Given the description of an element on the screen output the (x, y) to click on. 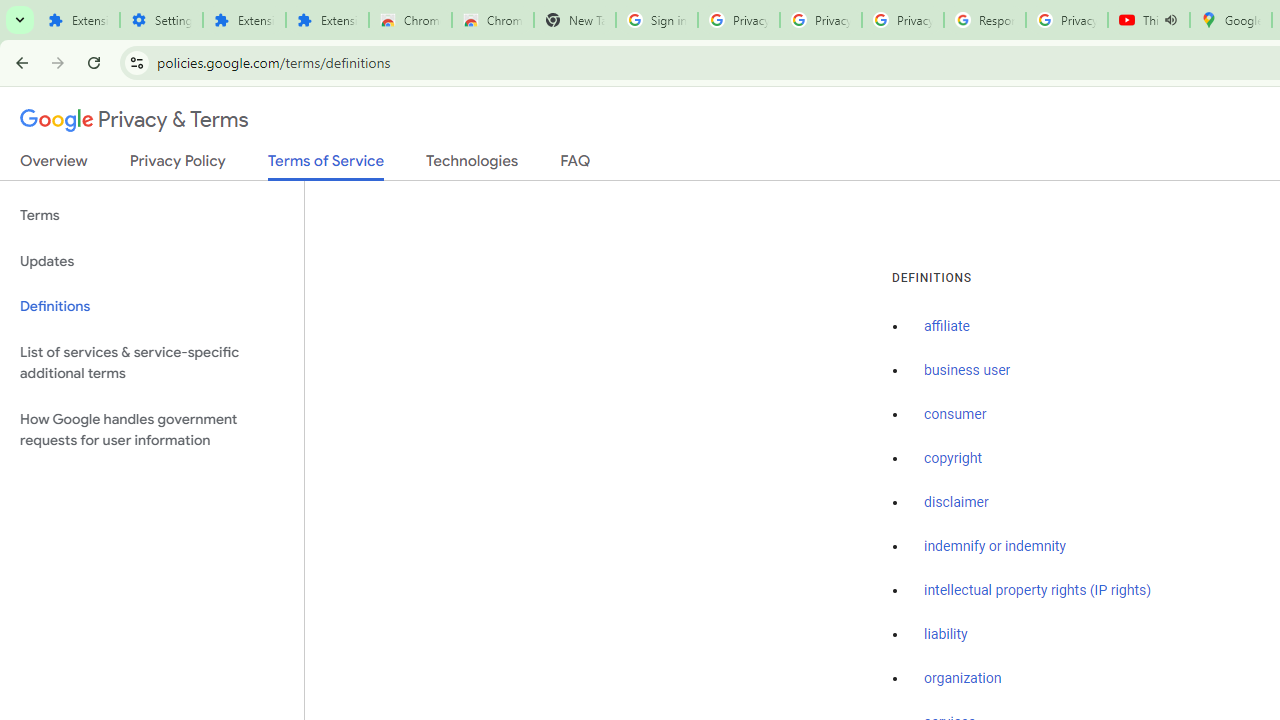
Chrome Web Store (409, 20)
Extensions (326, 20)
copyright (952, 459)
Extensions (244, 20)
Sign in - Google Accounts (656, 20)
business user (967, 371)
Chrome Web Store - Themes (492, 20)
Mute tab (1170, 20)
